Given the description of an element on the screen output the (x, y) to click on. 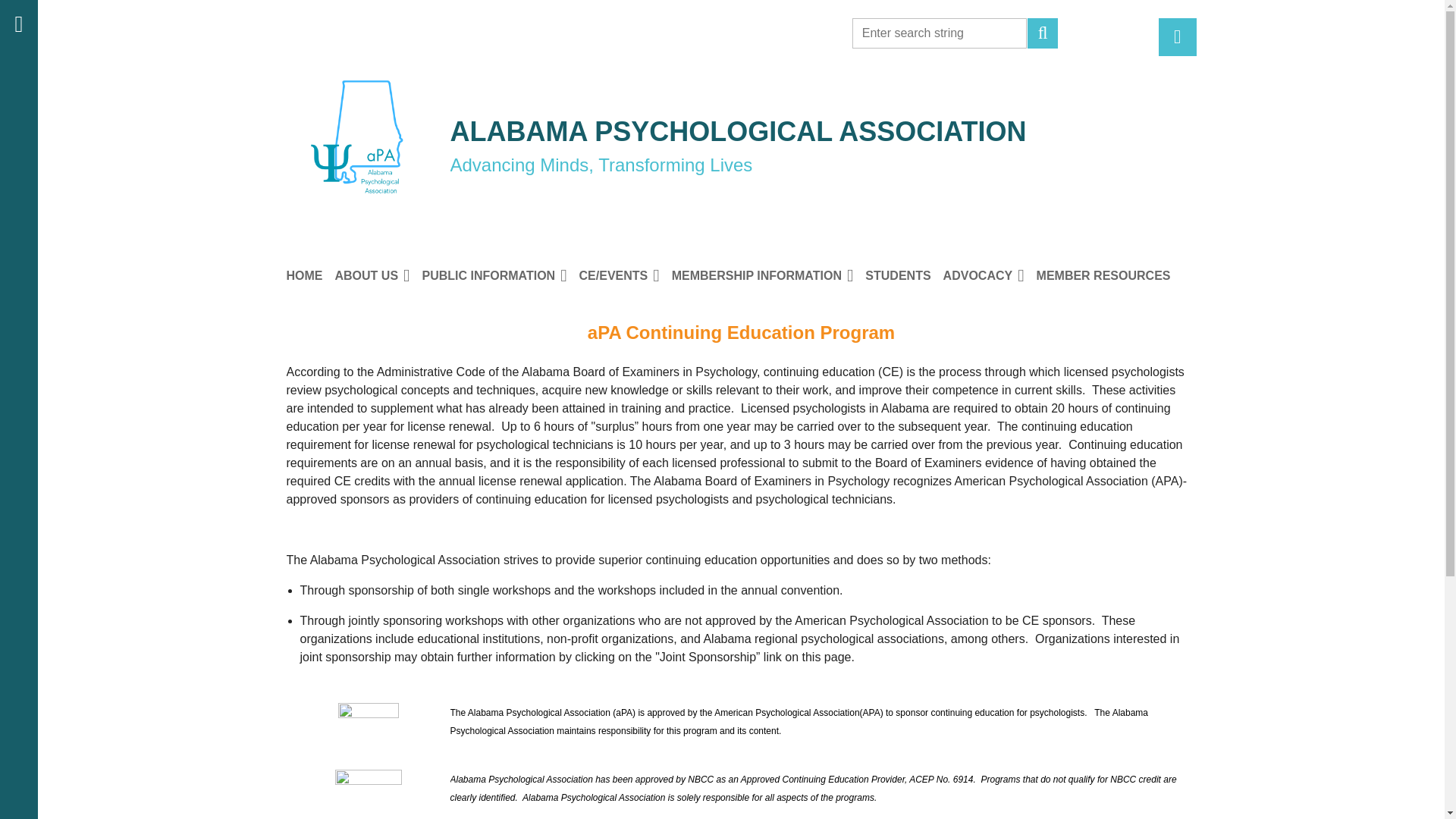
HOME (310, 275)
ABOUT US (378, 275)
PUBLIC INFORMATION (500, 275)
Search (1042, 33)
Log in (1177, 37)
